Given the description of an element on the screen output the (x, y) to click on. 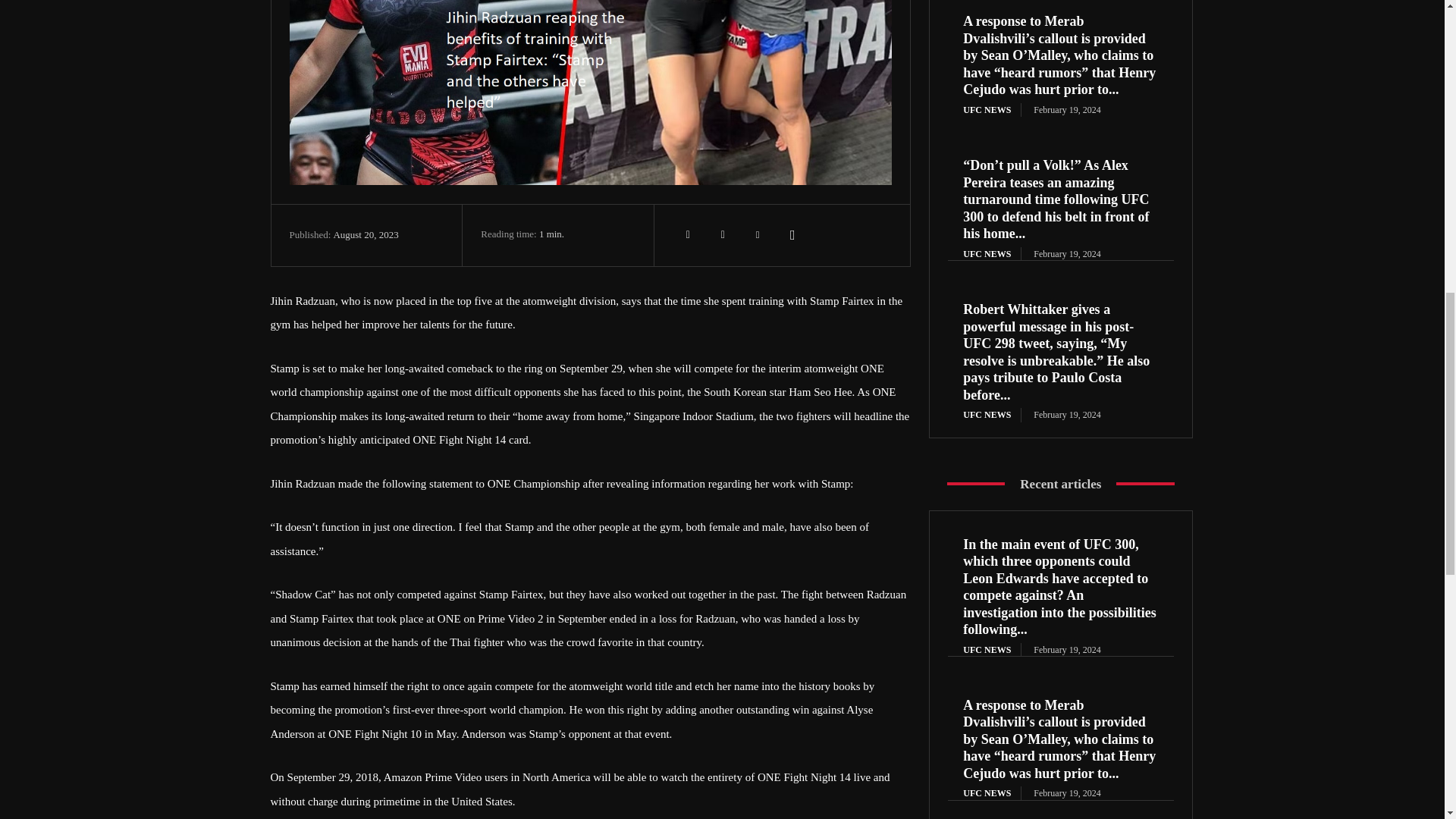
WhatsApp (792, 235)
Facebook (687, 235)
Pinterest (757, 235)
Twitter (722, 235)
a7d0e-16925244417685-1920 (590, 92)
